Given the description of an element on the screen output the (x, y) to click on. 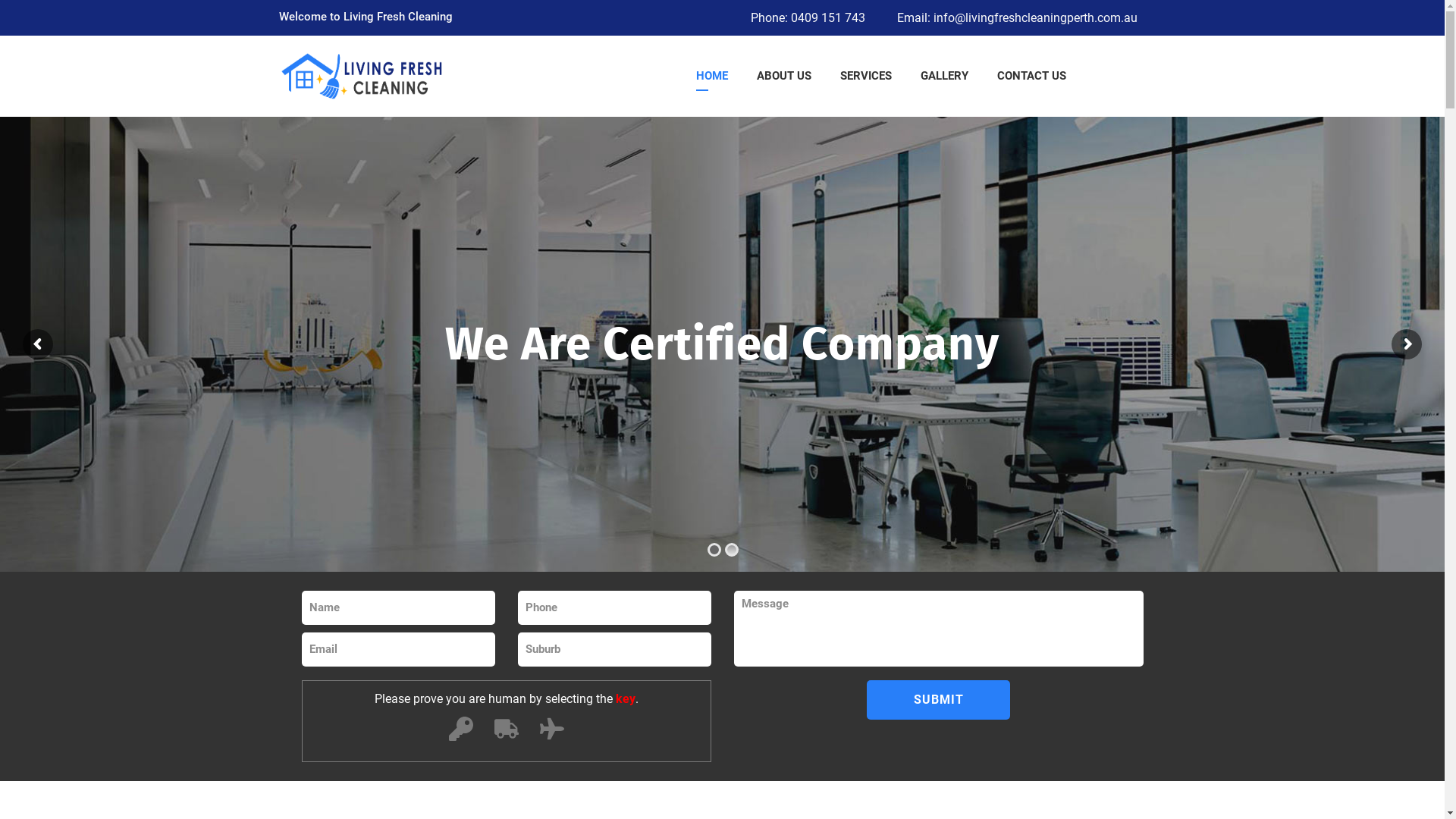
0409 151 743 Element type: text (827, 17)
CONTACT US Element type: text (1031, 75)
Living Fresh Cleaning Element type: hover (430, 75)
GALLERY Element type: text (944, 75)
HOME Element type: text (712, 75)
SERVICES Element type: text (865, 75)
info@livingfreshcleaningperth.com.au Element type: text (1034, 17)
ABOUT US Element type: text (783, 75)
SUBMIT Element type: text (938, 699)
